Given the description of an element on the screen output the (x, y) to click on. 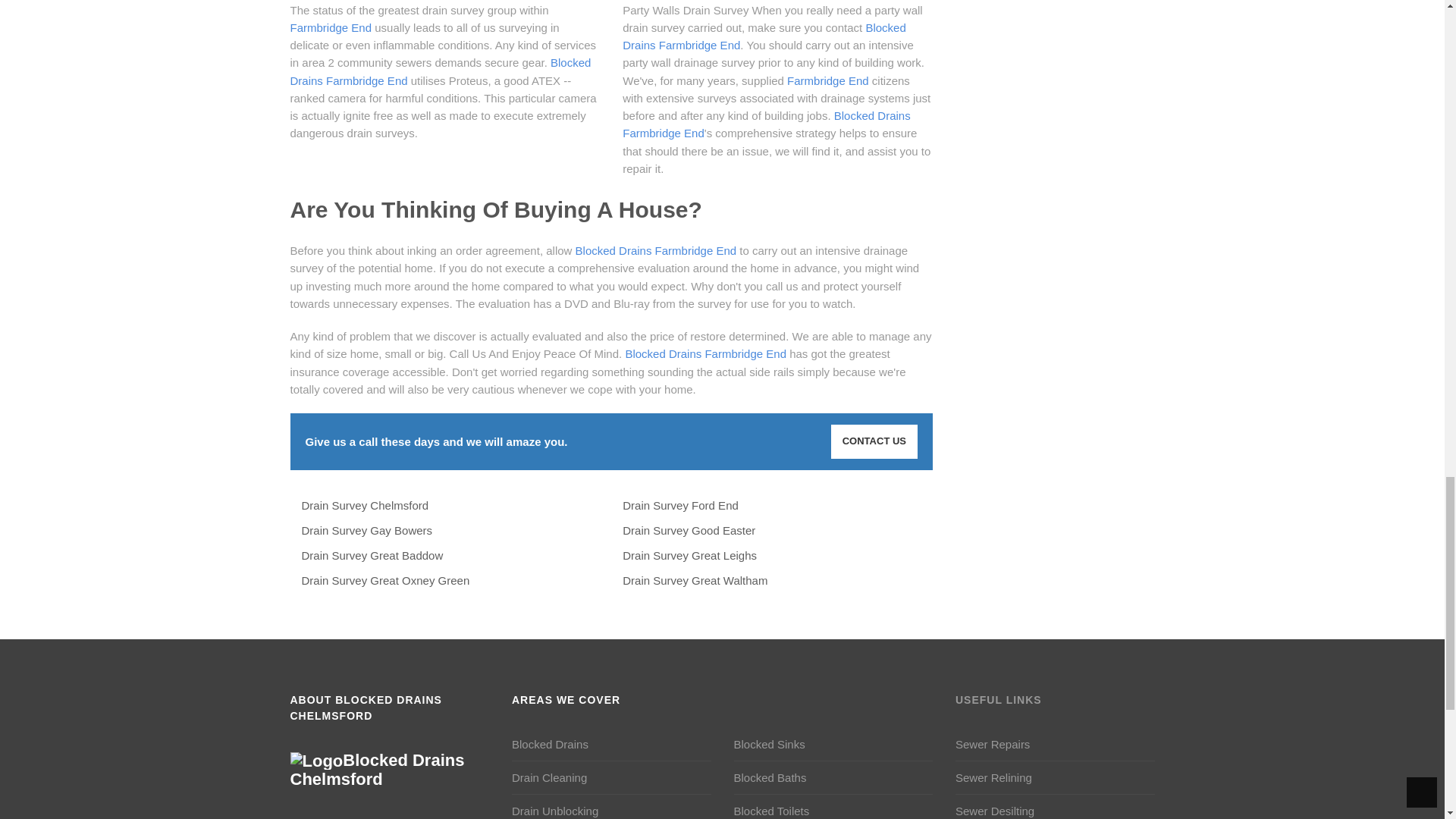
blockeddrains-chelmsford.uk (376, 769)
